Given the description of an element on the screen output the (x, y) to click on. 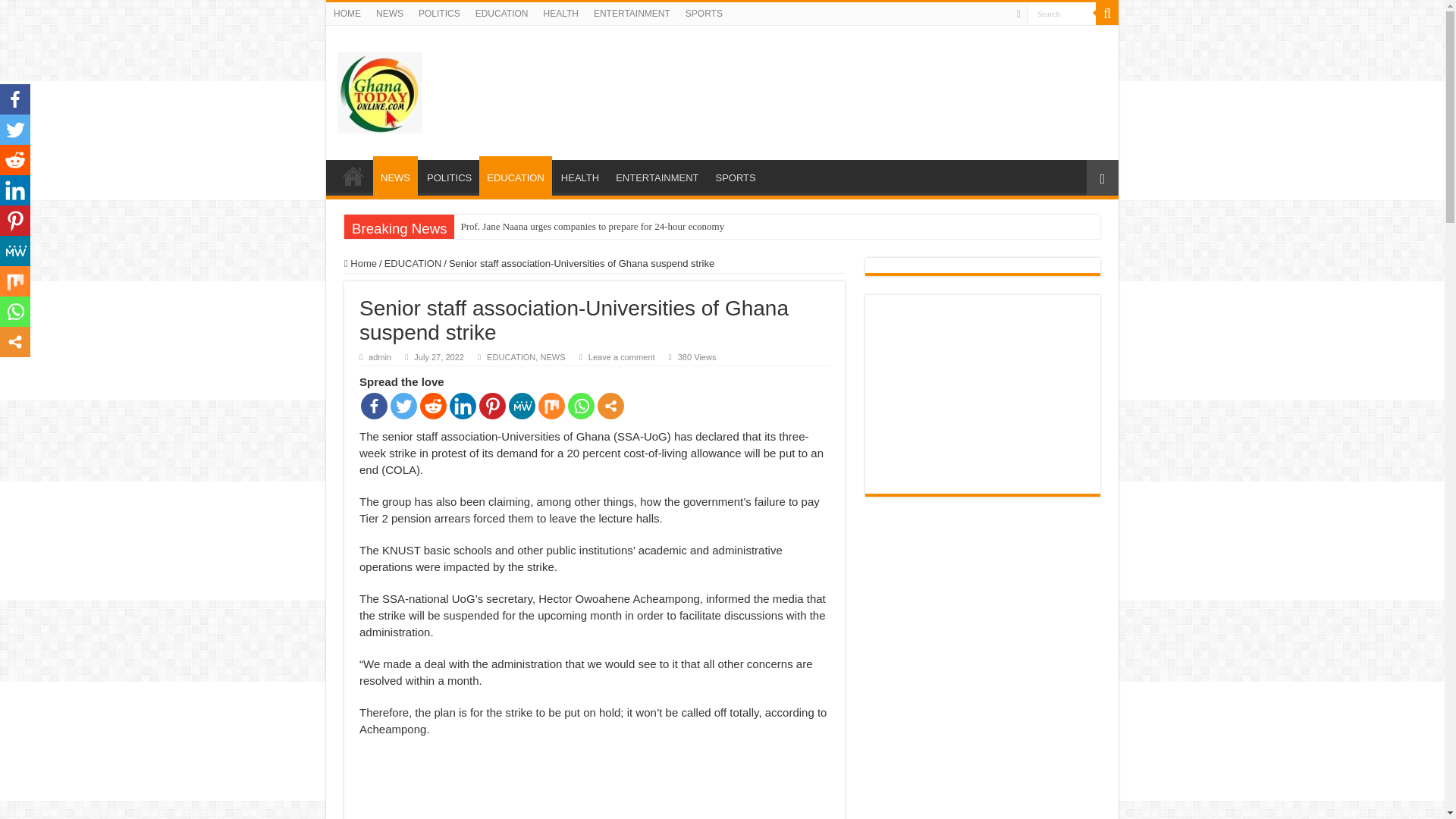
HOME (352, 175)
NEWS (394, 175)
SPORTS (734, 175)
Leave a comment (621, 356)
Random Article (1102, 177)
Search (1107, 13)
SPORTS (704, 13)
HEALTH (560, 13)
EDUCATION (413, 263)
EDUCATION (515, 175)
HOME (347, 13)
NEWS (389, 13)
Home (360, 263)
Ghanatodayonline.com (379, 90)
